Given the description of an element on the screen output the (x, y) to click on. 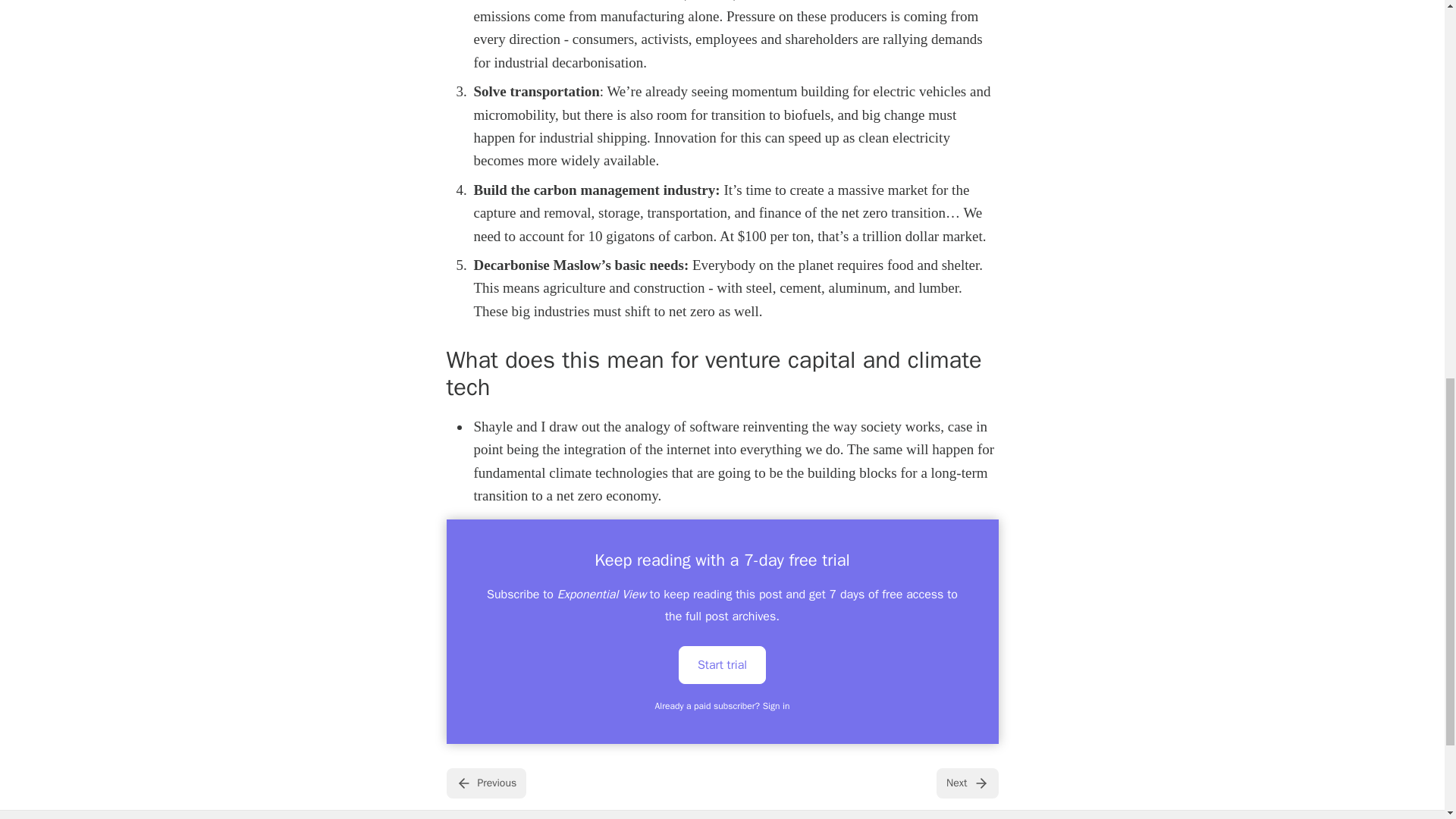
Start trial (721, 664)
Start trial (721, 664)
Already a paid subscriber? Sign in (722, 705)
Previous (485, 783)
Next (966, 783)
